Given the description of an element on the screen output the (x, y) to click on. 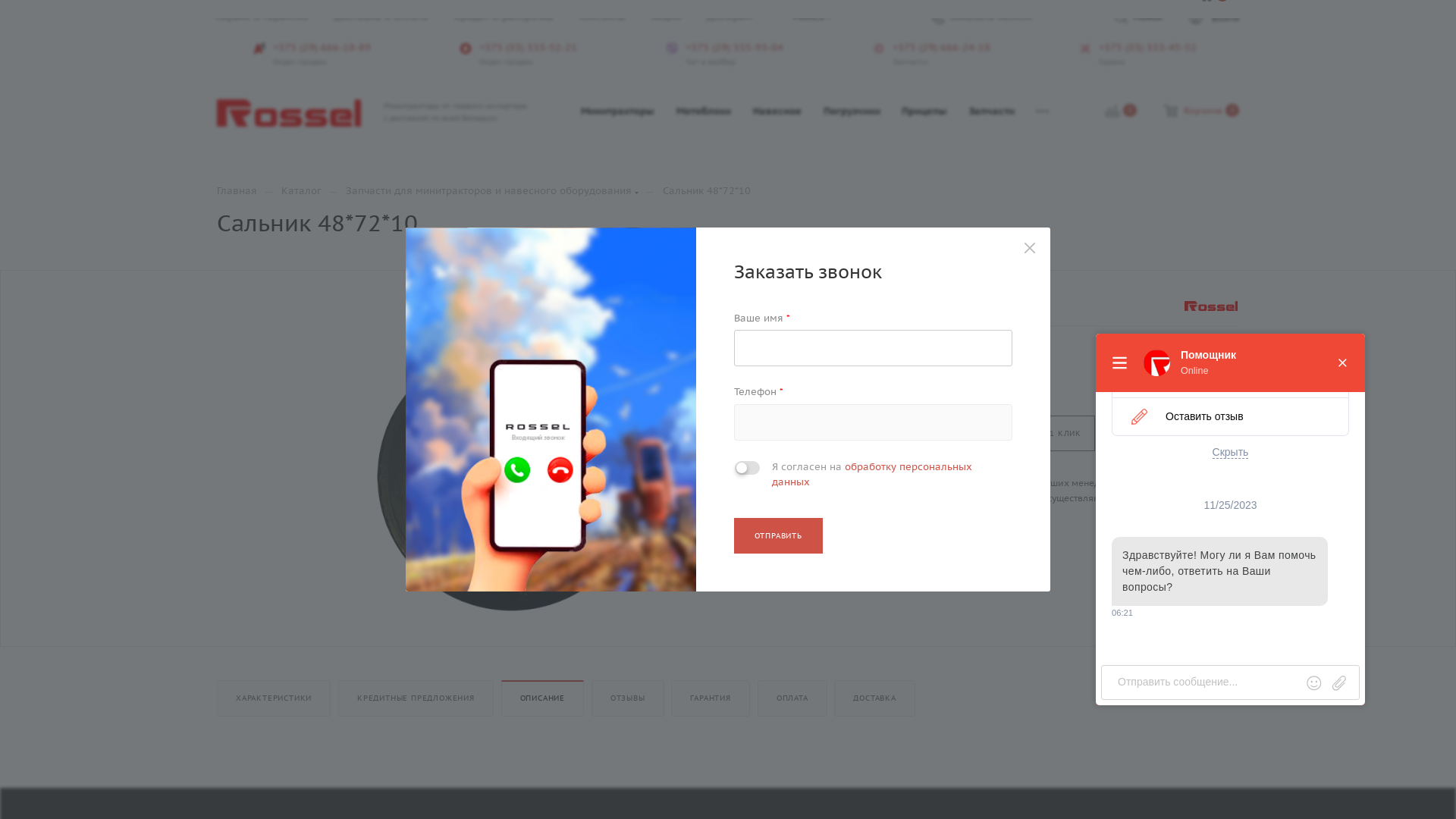
rossel.by Element type: hover (288, 112)
servis.svg Element type: hover (1085, 48)
servis.svg Element type: hover (259, 48)
servis.svg Element type: hover (465, 48)
Rossel Element type: hover (1210, 305)
0 Element type: text (1107, 111)
servis.svg Element type: hover (671, 48)
servis.svg Element type: hover (878, 48)
